Given the description of an element on the screen output the (x, y) to click on. 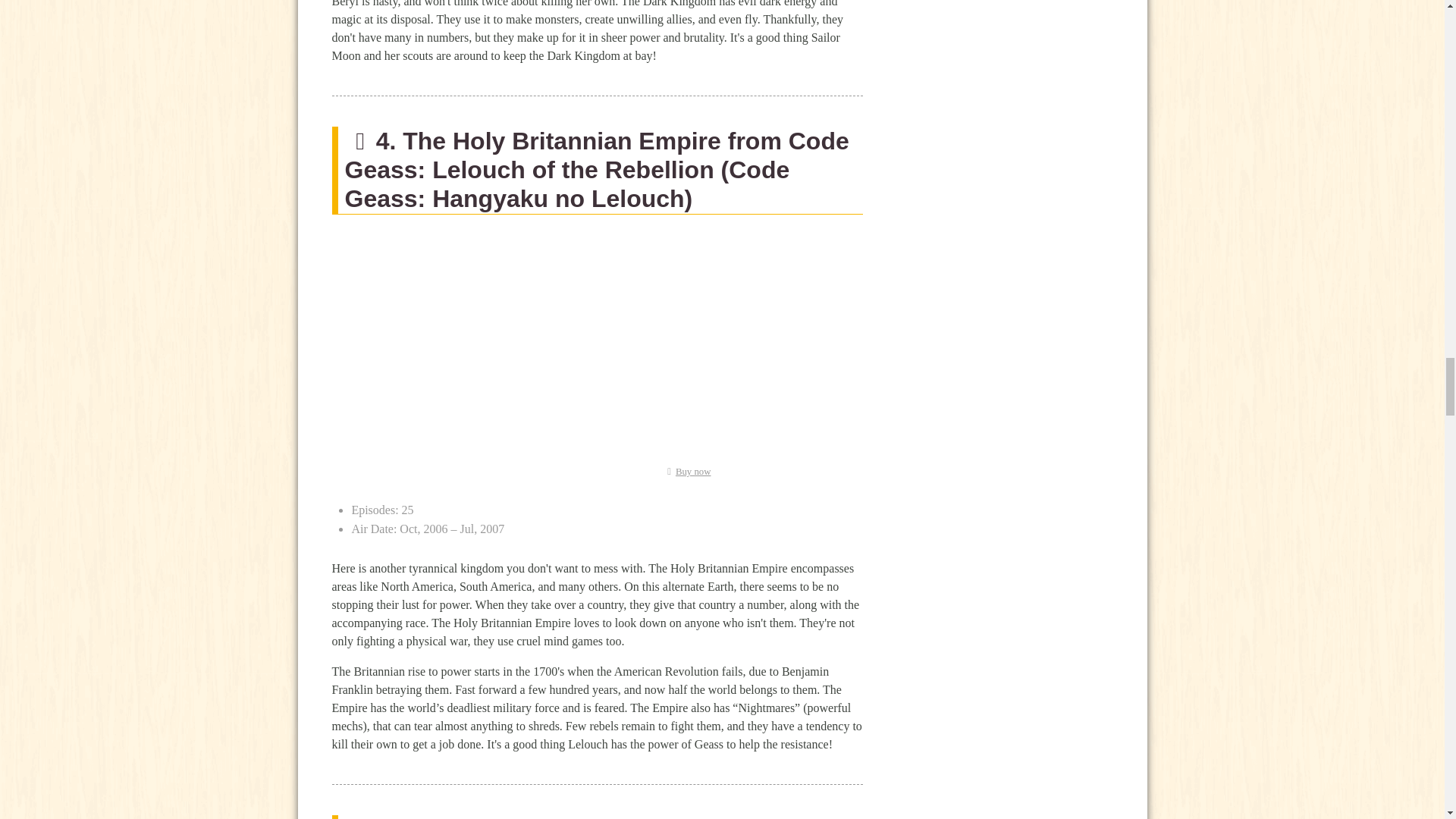
Buy now (686, 471)
